Given the description of an element on the screen output the (x, y) to click on. 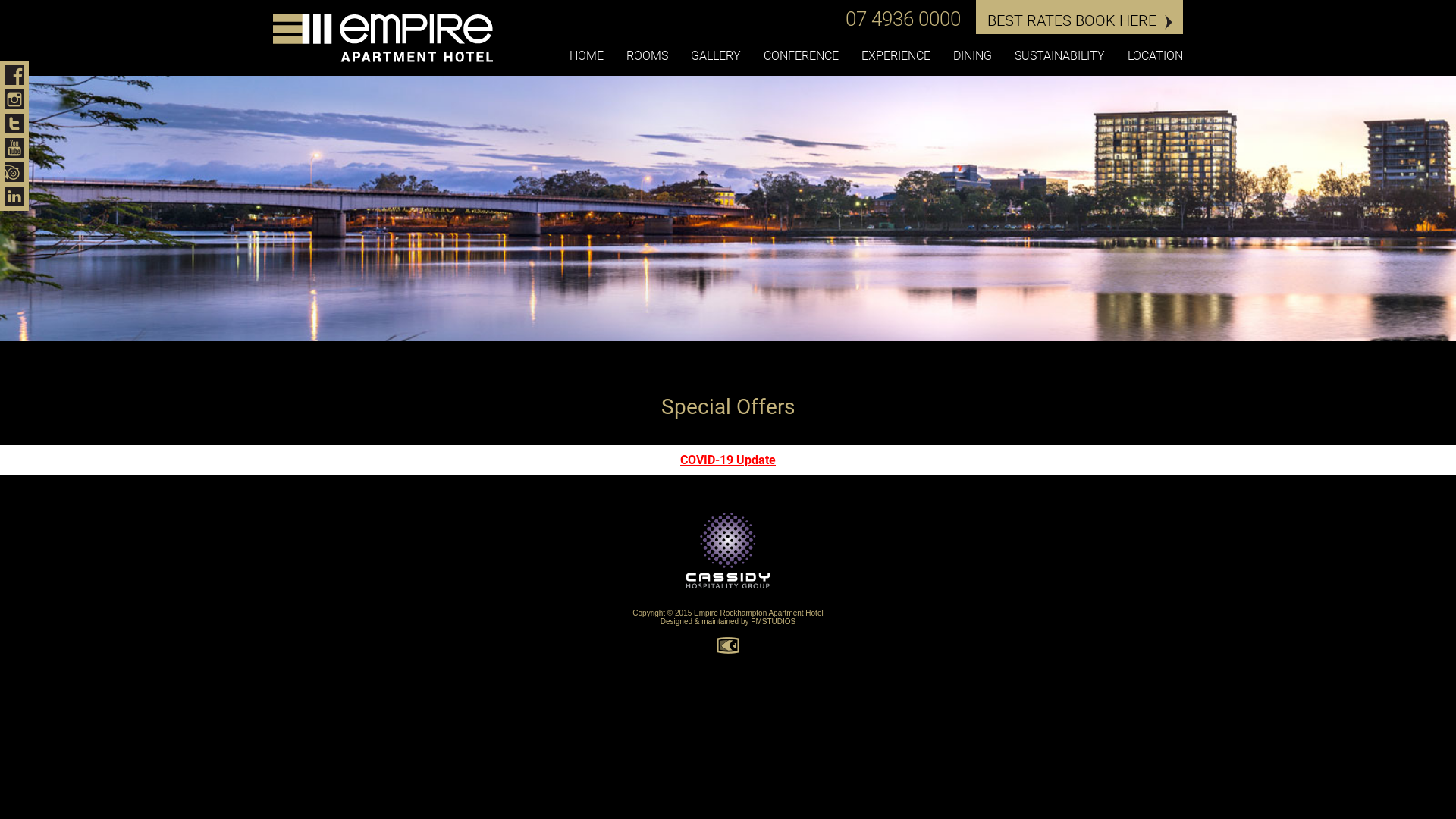
GALLERY Element type: text (715, 56)
HOME Element type: text (586, 56)
EXPERIENCE Element type: text (895, 56)
COVID-19 Update Element type: text (727, 459)
CONFERENCE Element type: text (801, 56)
LOCATION Element type: text (1155, 56)
DINING Element type: text (972, 56)
ROOMS Element type: text (647, 56)
Empire Rockhampton Apartment Hotel Element type: text (758, 612)
BEST RATES BOOK HERE Element type: text (1079, 17)
SUSTAINABILITY Element type: text (1059, 56)
FMSTUDIOS Element type: text (772, 621)
